Given the description of an element on the screen output the (x, y) to click on. 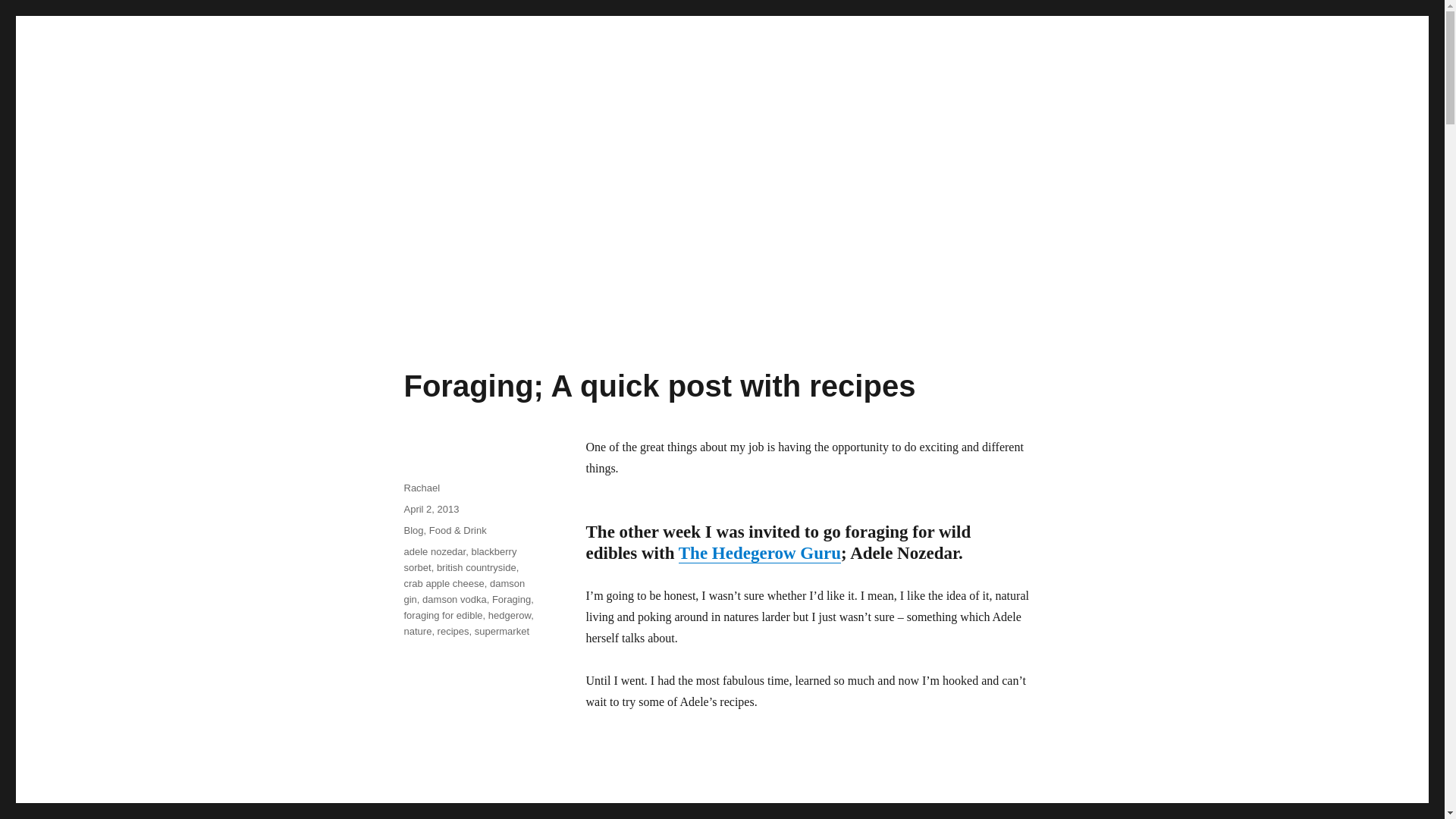
Rachael (421, 487)
Blog (413, 530)
crab apple cheese (443, 583)
The Hedegerow Guru (759, 552)
damson vodka (454, 599)
blackberry sorbet (459, 559)
adele nozedar (434, 551)
Rachael Phillips (347, 306)
british countryside (476, 567)
Foraging (511, 599)
